Given the description of an element on the screen output the (x, y) to click on. 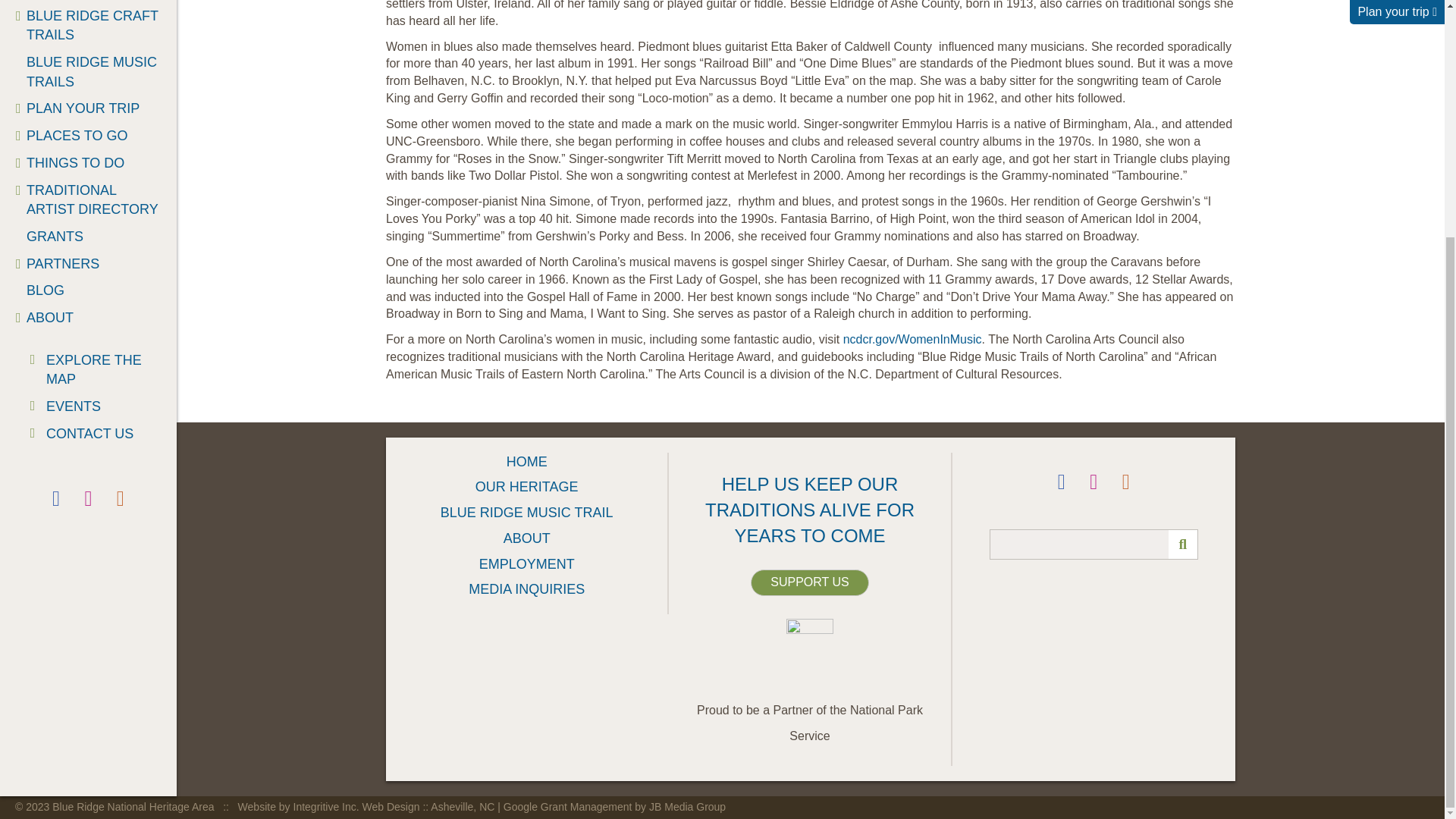
OUR HERITAGE (88, 1)
Search (1094, 544)
Search Submit (1182, 543)
Donate (809, 582)
Integritive Web Design (367, 806)
